Given the description of an element on the screen output the (x, y) to click on. 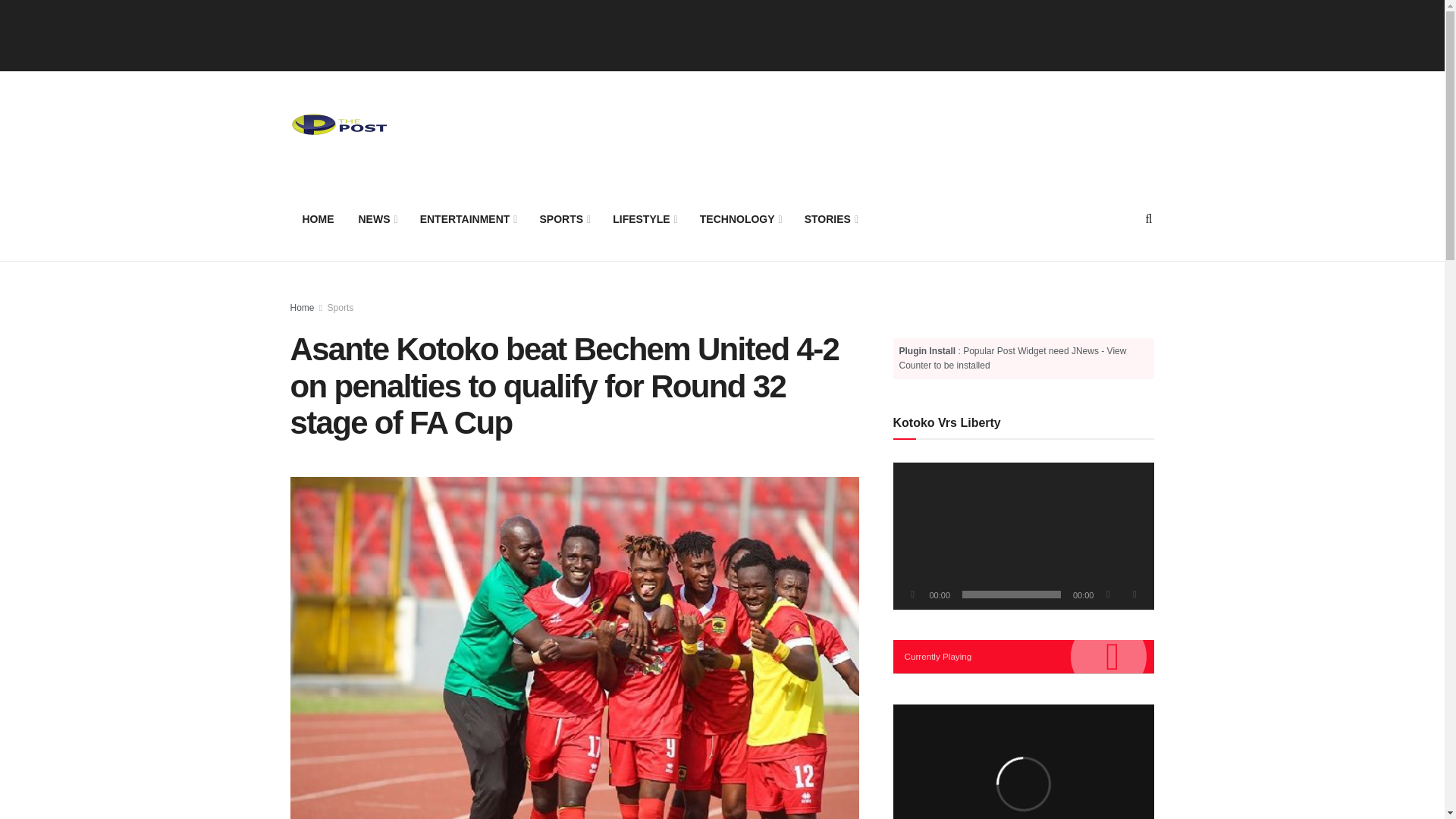
Fullscreen (1133, 594)
NEWS (376, 218)
Play (912, 594)
Mute (1107, 594)
HOME (317, 218)
ENTERTAINMENT (467, 218)
